Given the description of an element on the screen output the (x, y) to click on. 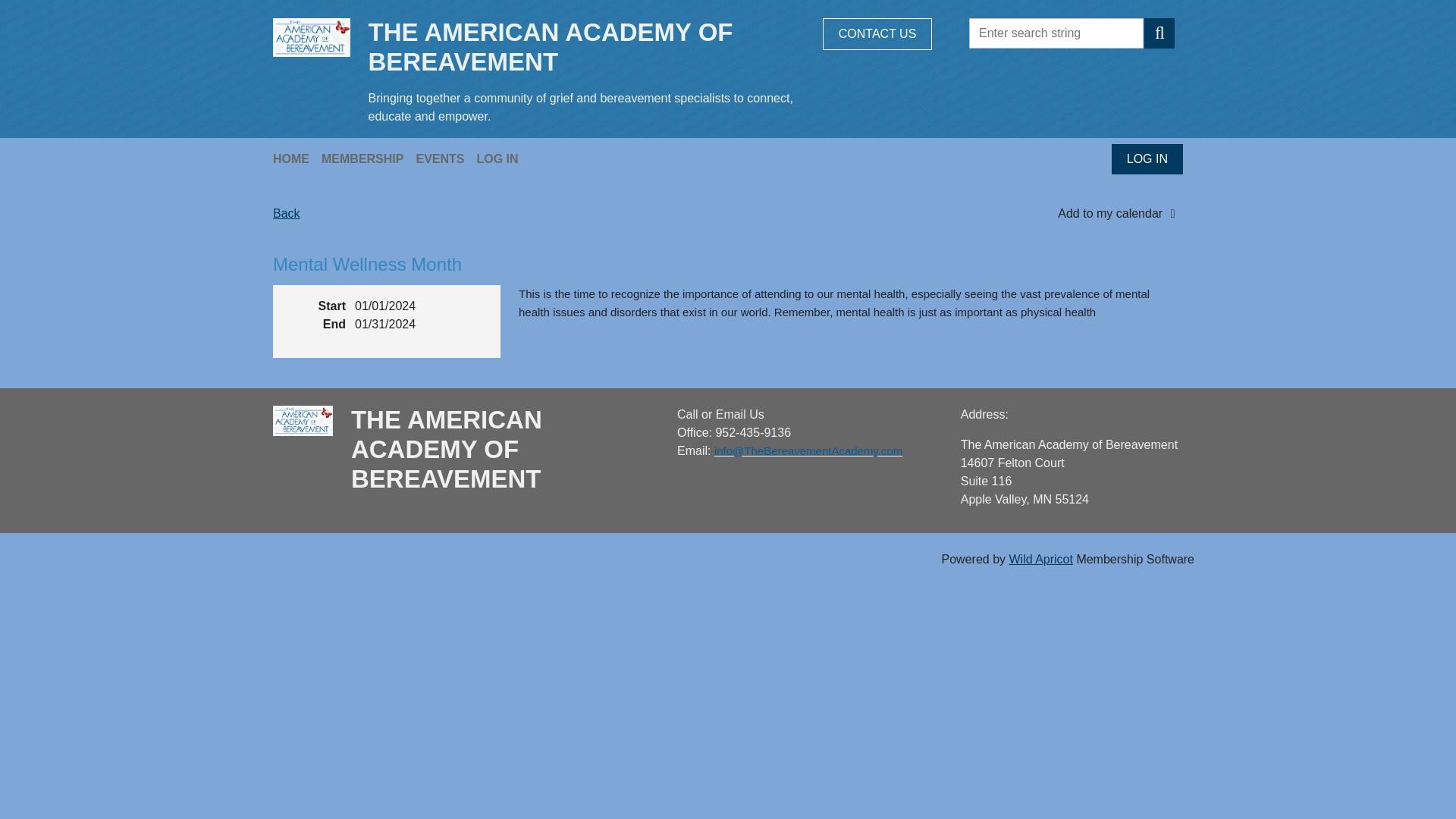
CONTACT US (877, 33)
Wild Apricot (1040, 558)
LOG IN (1147, 159)
LOG IN (502, 158)
EVENTS (445, 158)
Back (286, 213)
HOME (297, 158)
Events (445, 158)
Log in (1147, 159)
Search (1159, 33)
Membership (367, 158)
HOME (297, 158)
Log In (502, 158)
MEMBERSHIP (367, 158)
